Given the description of an element on the screen output the (x, y) to click on. 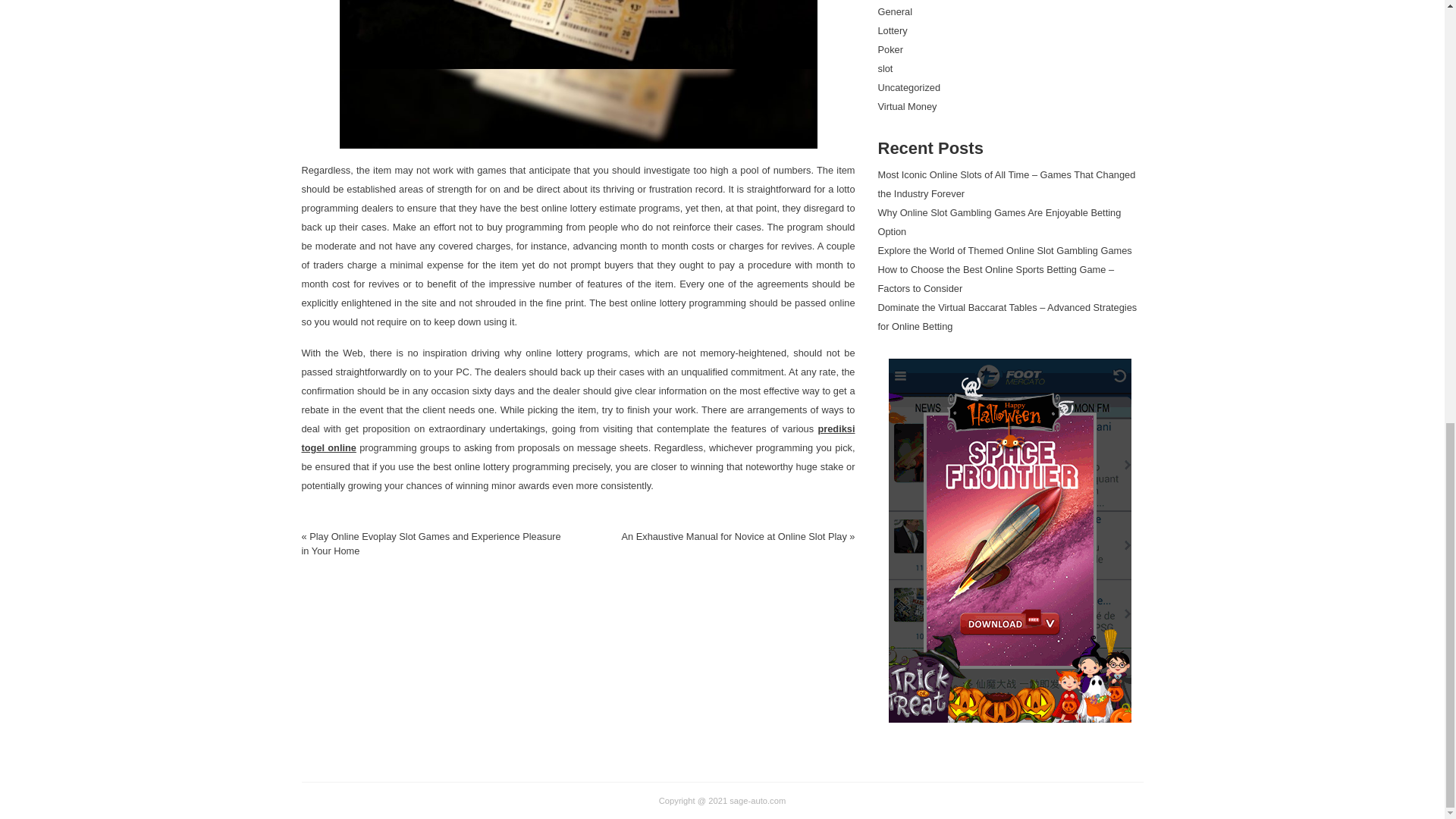
prediksi togel online (578, 438)
General (894, 11)
Lottery (892, 30)
Explore the World of Themed Online Slot Gambling Games (1004, 250)
Uncategorized (908, 87)
slot (885, 68)
An Exhaustive Manual for Novice at Online Slot Play (733, 536)
Virtual Money (907, 106)
Why Online Slot Gambling Games Are Enjoyable Betting Option (999, 222)
